Given the description of an element on the screen output the (x, y) to click on. 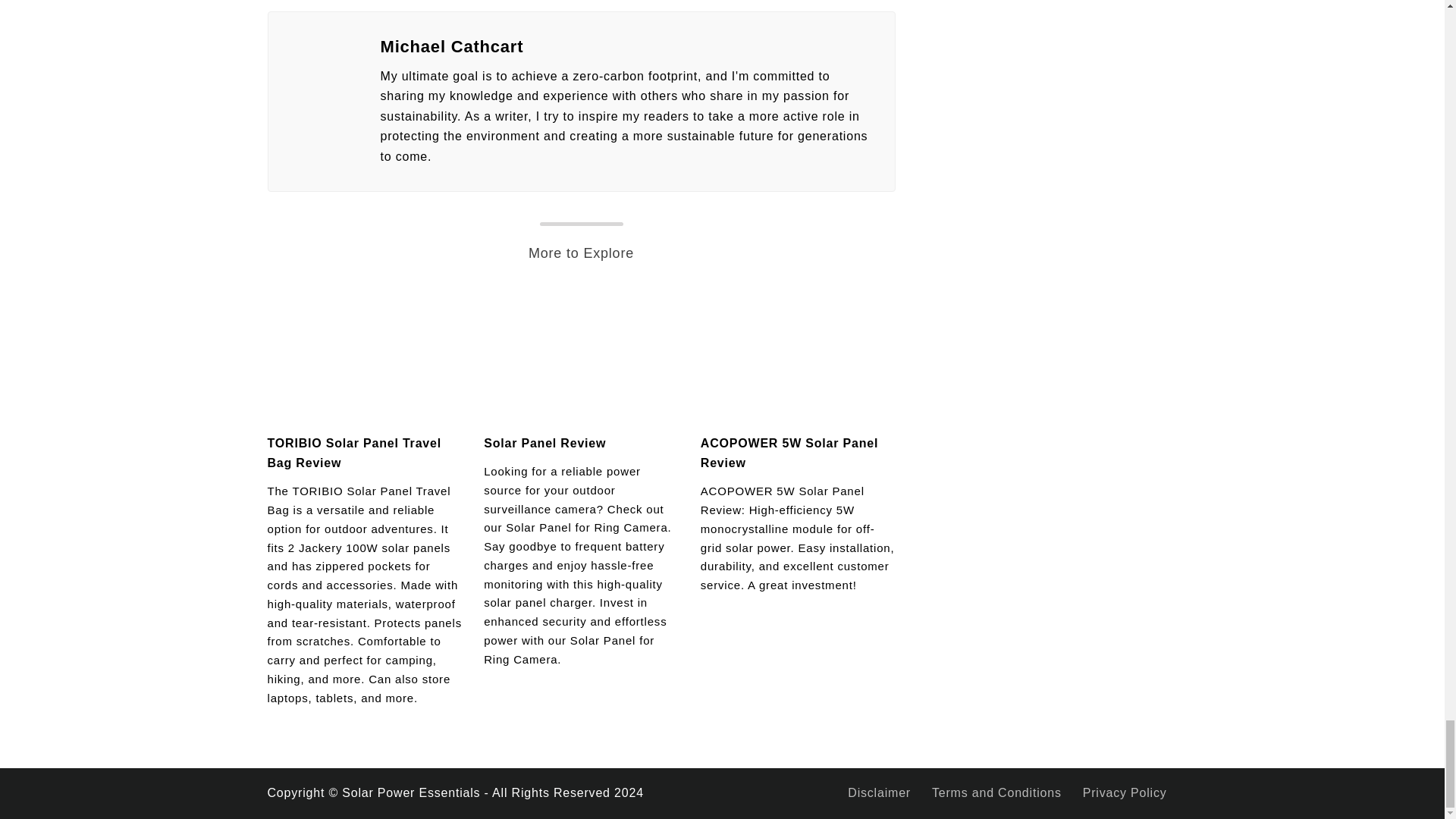
Disclaimer (879, 792)
link to ACOPOWER 5W Solar Panel Review (797, 354)
Solar Panel Review (544, 442)
link to Solar Panel Review (580, 354)
ACOPOWER 5W Solar Panel Review (788, 452)
link to TORIBIO Solar Panel Travel Bag Review (363, 354)
TORIBIO Solar Panel Travel Bag Review (353, 452)
Michael Cathcart (628, 46)
